Given the description of an element on the screen output the (x, y) to click on. 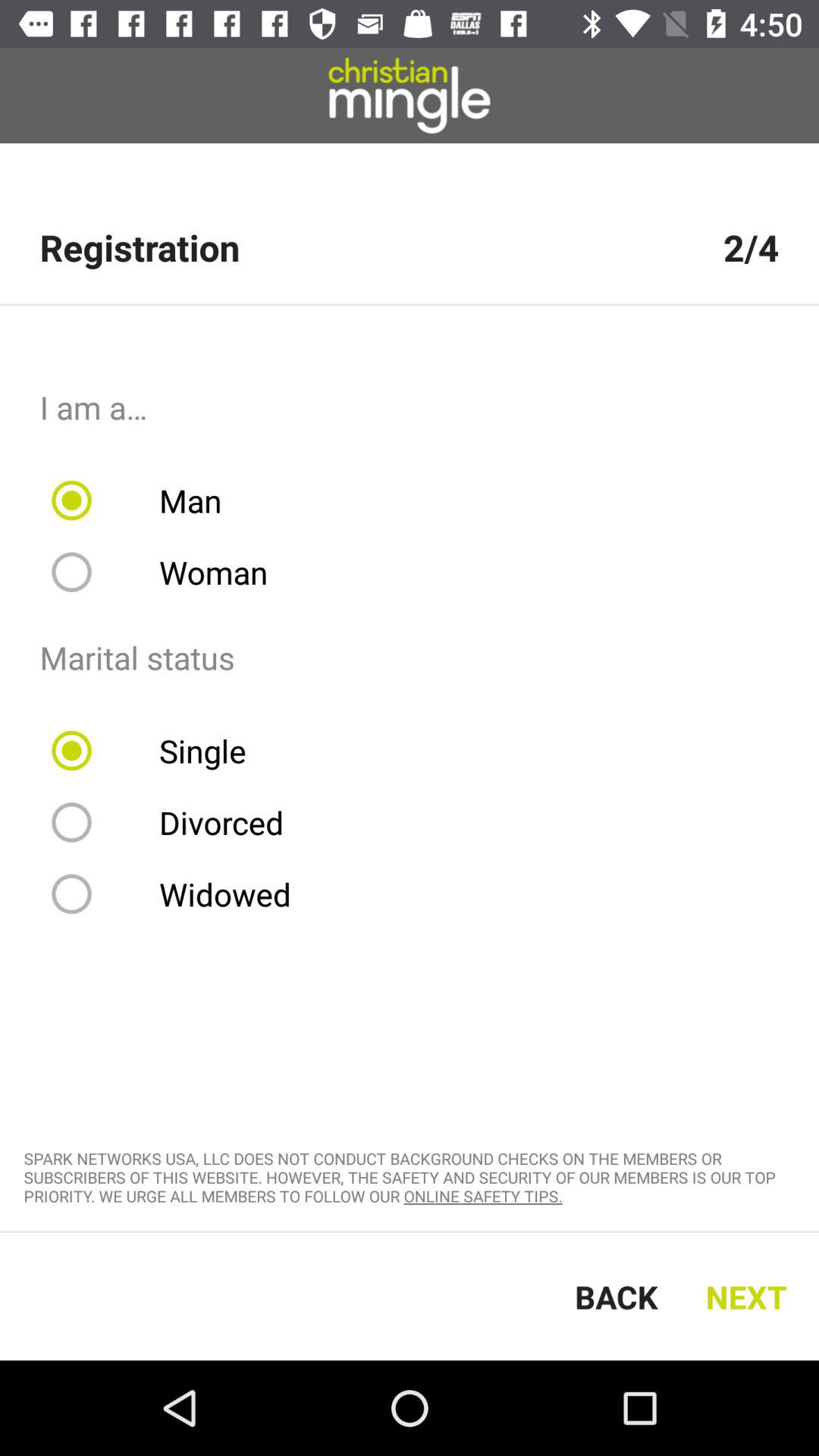
scroll until spark networks usa icon (409, 1176)
